Given the description of an element on the screen output the (x, y) to click on. 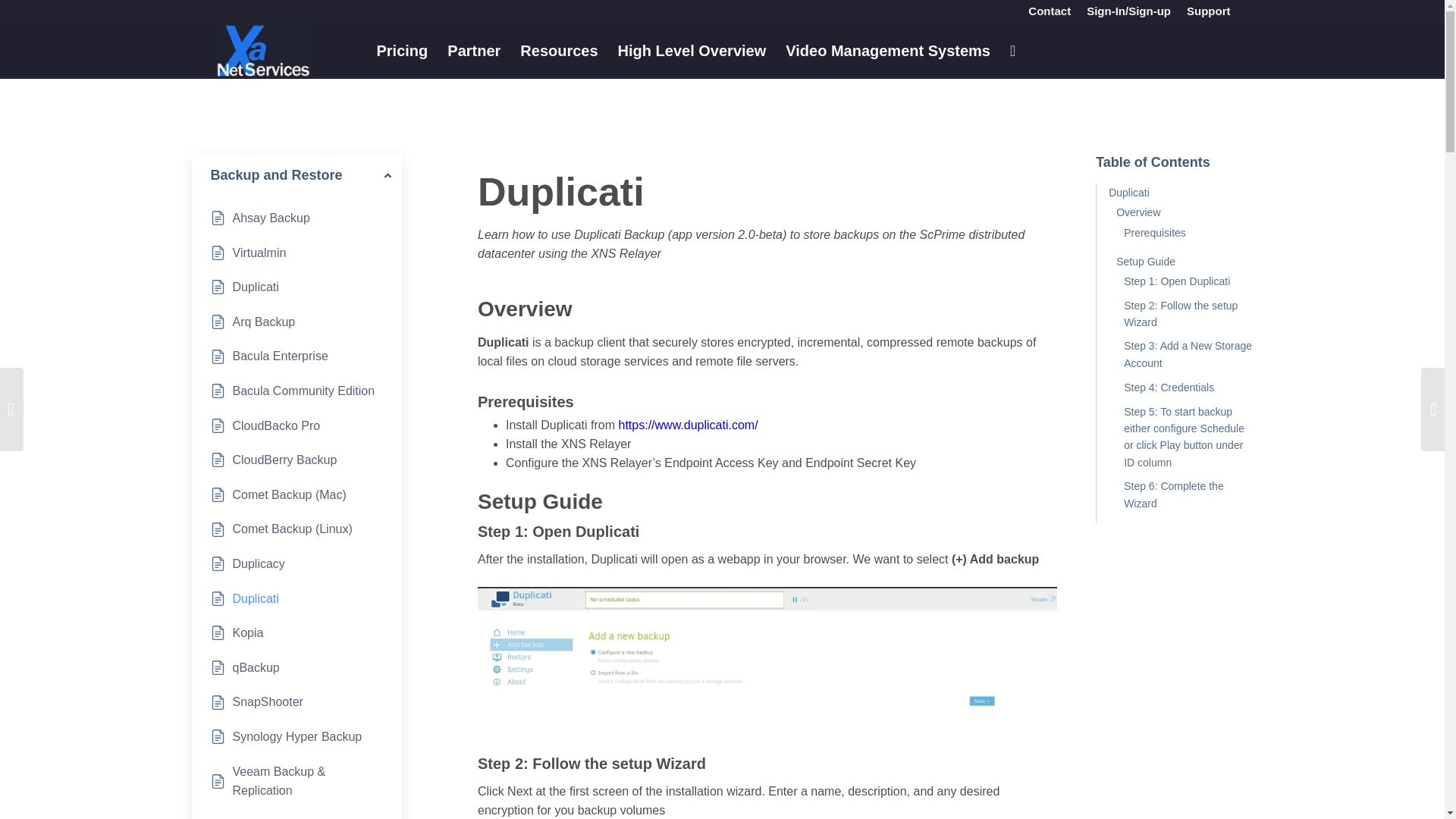
SnapShooter (266, 701)
Partner (474, 50)
CloudBerry Backup (283, 460)
Contact (1048, 11)
Resources (559, 50)
Video Management Systems (888, 50)
Duplicati (254, 598)
Bacula Enterprise (279, 356)
Duplicacy (257, 564)
Synology Hyper Backup (296, 736)
Support (1208, 11)
Ahsay Backup (269, 218)
CloudBacko Pro (275, 425)
Kopia (247, 632)
Virtualmin (258, 252)
